Given the description of an element on the screen output the (x, y) to click on. 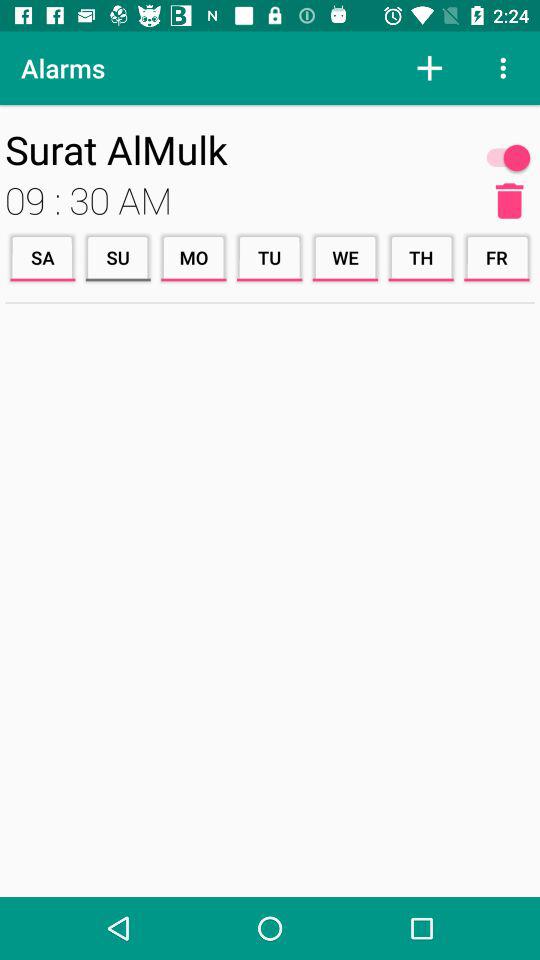
open the item to the left of the th icon (345, 257)
